Given the description of an element on the screen output the (x, y) to click on. 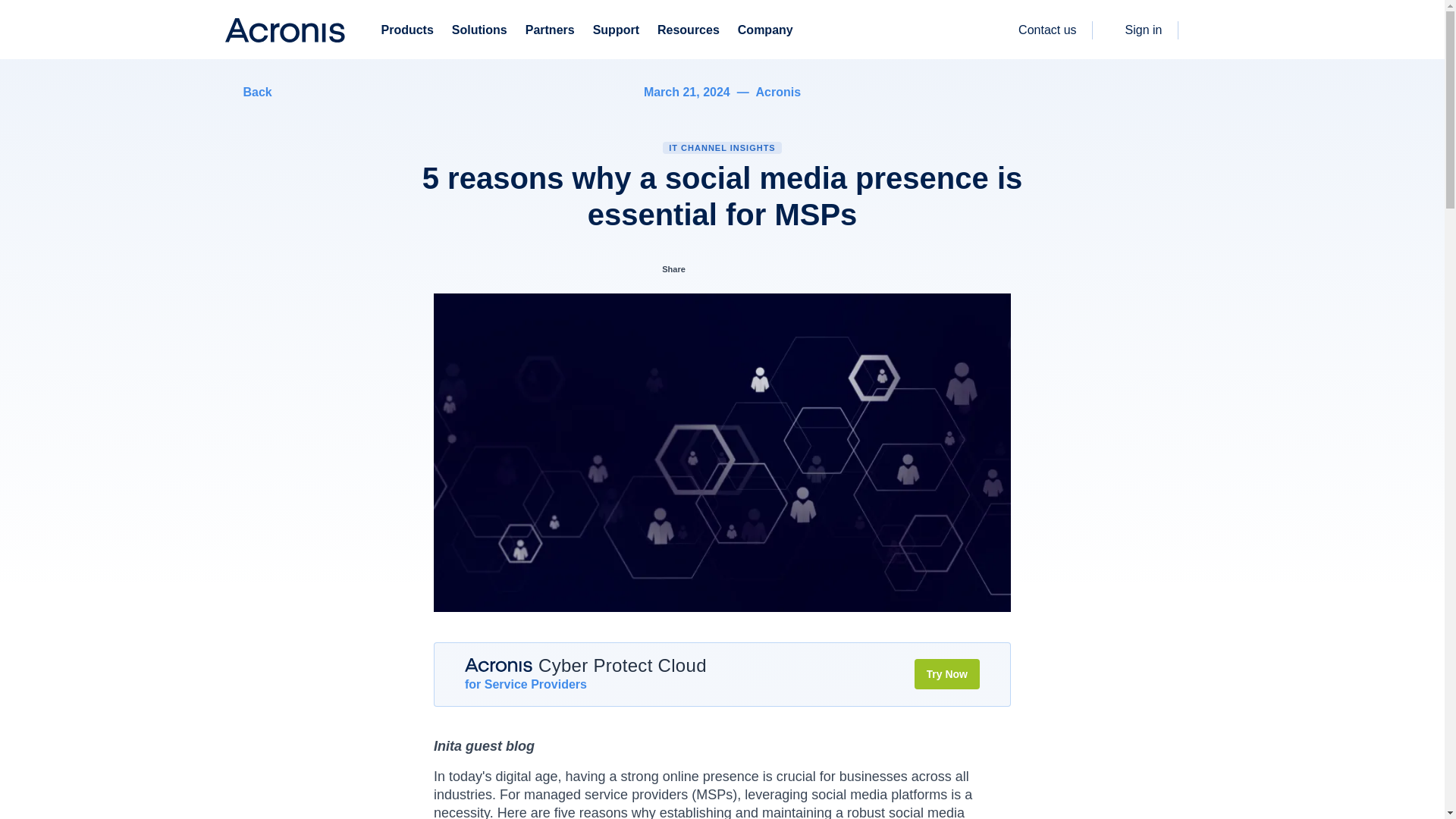
Acronis (283, 30)
Acronis (498, 664)
